Given the description of an element on the screen output the (x, y) to click on. 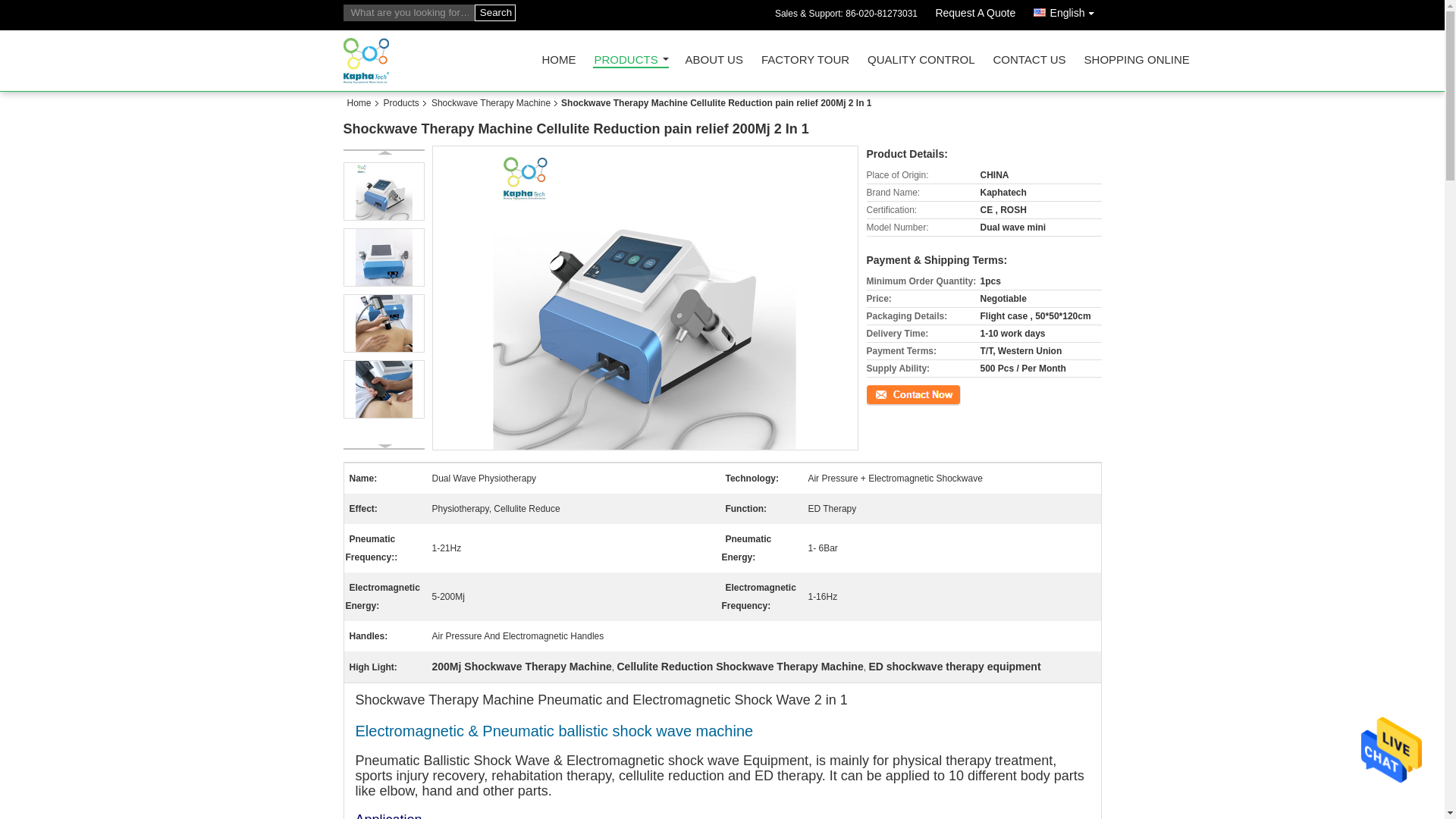
Request A Quote (974, 15)
HOME (558, 63)
English (1067, 11)
PRODUCTS (630, 60)
Quote (974, 15)
Search (494, 12)
ABOUT US (714, 63)
FACTORY TOUR (805, 63)
